Given the description of an element on the screen output the (x, y) to click on. 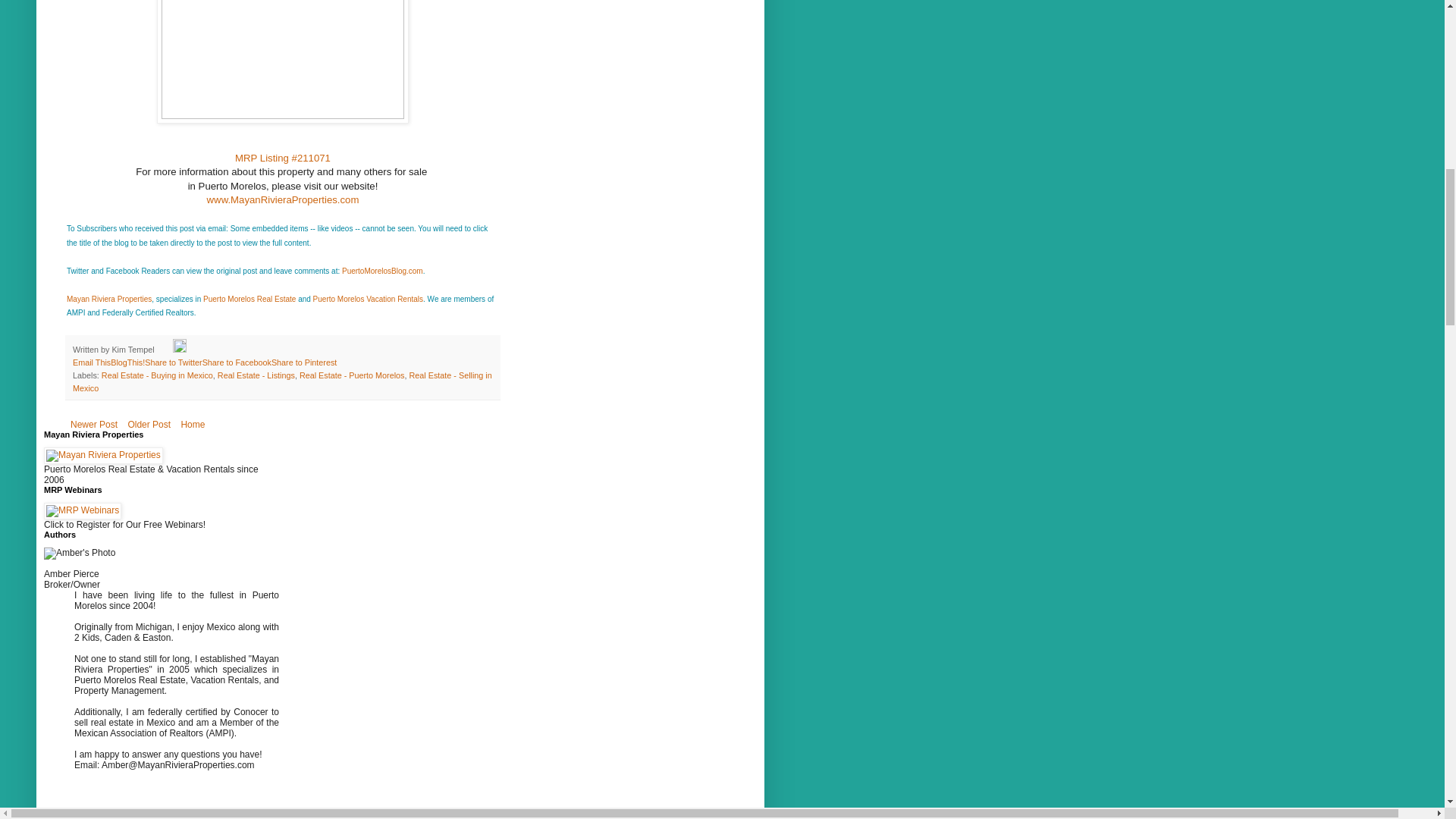
BlogThis! (127, 361)
Older Post (148, 424)
Share to Twitter (173, 361)
Email This (91, 361)
Older Post (148, 424)
Real Estate - Buying in Mexico (156, 375)
BlogThis! (127, 361)
Share to Twitter (173, 361)
Real Estate - Puerto Morelos (351, 375)
Newer Post (93, 424)
